Given the description of an element on the screen output the (x, y) to click on. 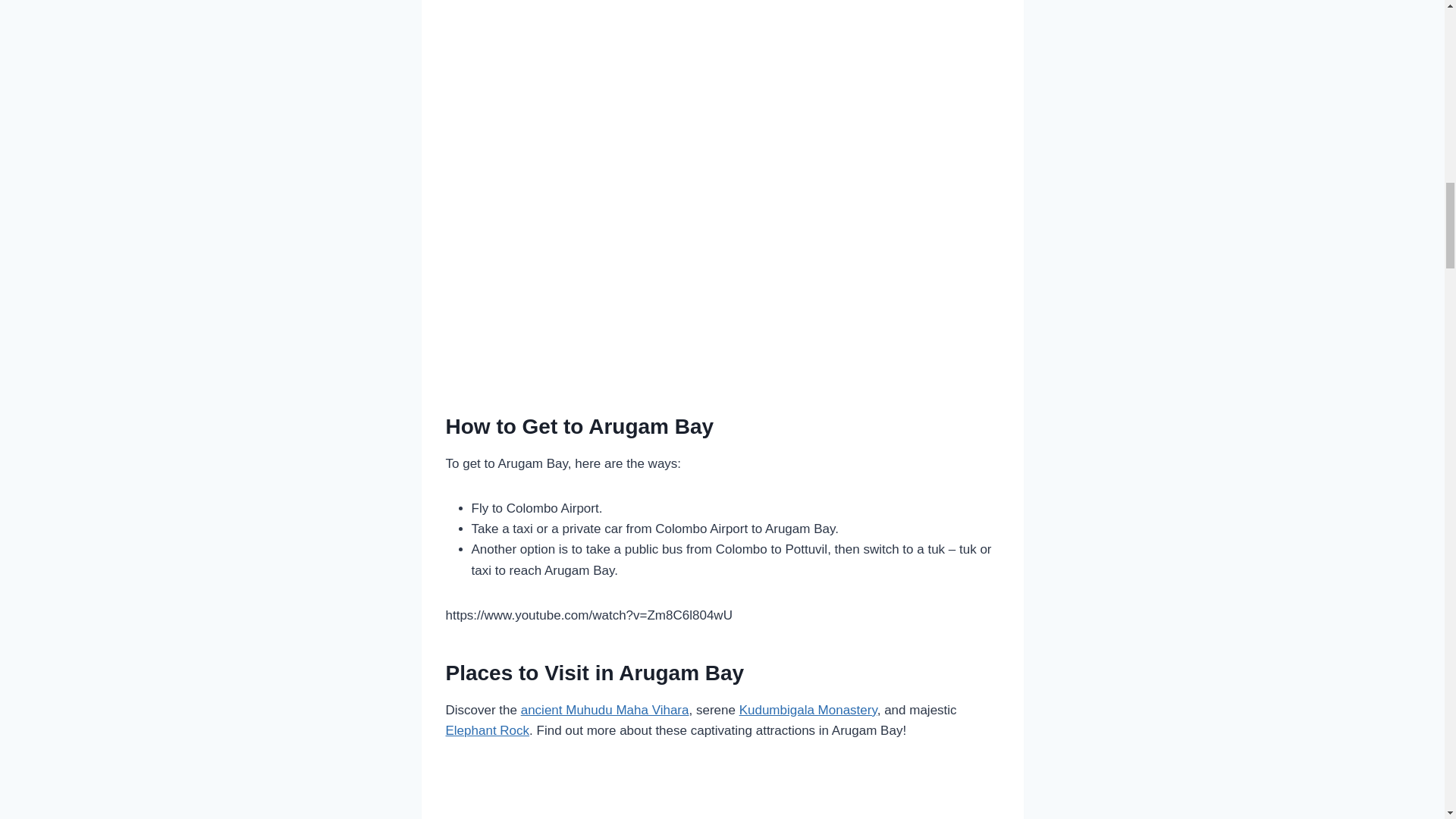
Elephant Rock (487, 730)
Kudumbigala Monastery (808, 709)
ancient Muhudu Maha Vihara (604, 709)
